Given the description of an element on the screen output the (x, y) to click on. 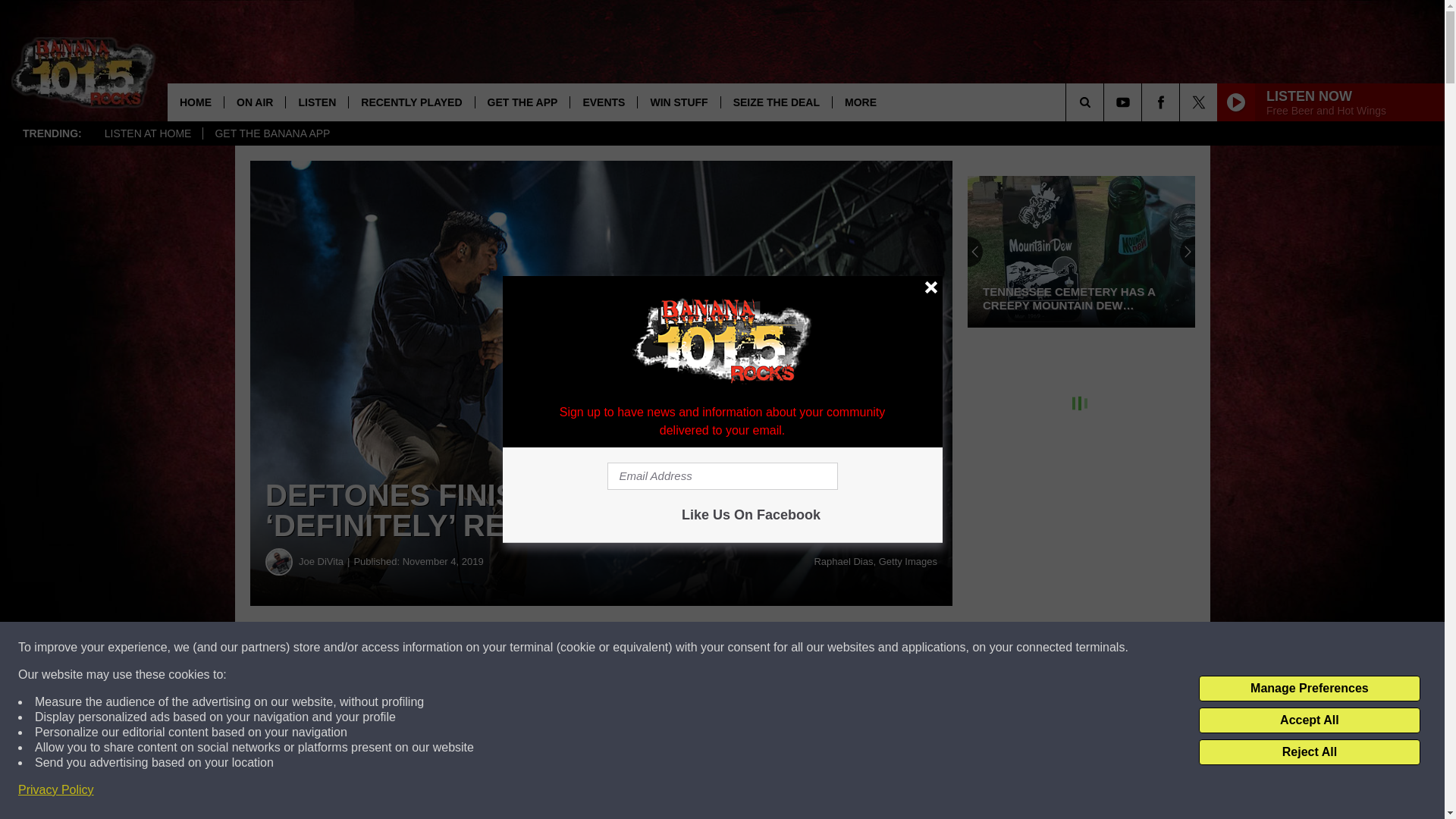
TRENDING: (52, 133)
Share on Facebook (460, 647)
RECENTLY PLAYED (410, 102)
Share on Twitter (741, 647)
WIN STUFF (678, 102)
LISTEN (316, 102)
MORE (859, 102)
Manage Preferences (1309, 688)
HOME (195, 102)
SEARCH (1106, 102)
SEIZE THE DEAL (775, 102)
EVENTS (603, 102)
ON AIR (254, 102)
GET THE APP (522, 102)
Reject All (1309, 751)
